Given the description of an element on the screen output the (x, y) to click on. 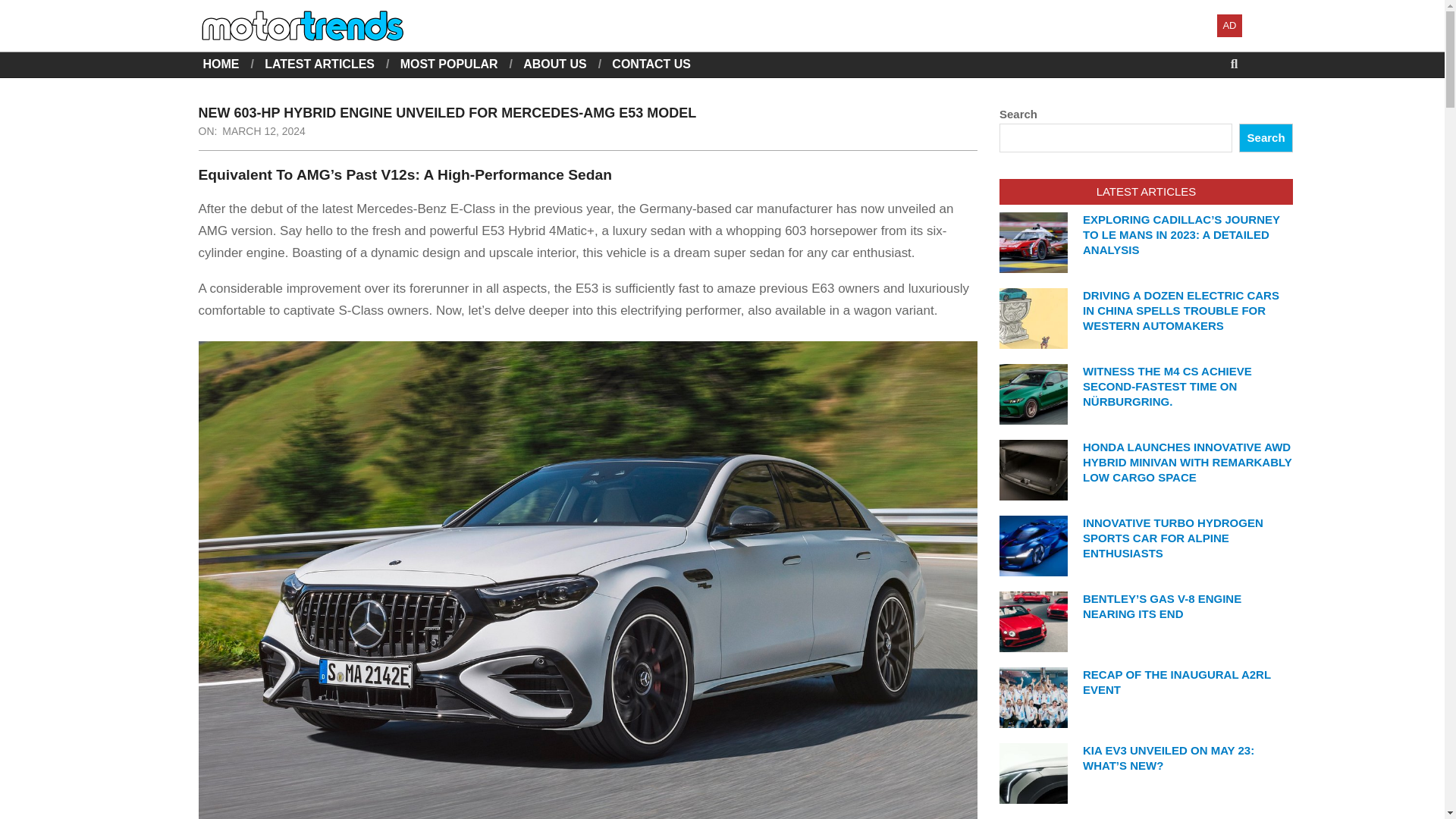
ABOUT US (554, 63)
MOST POPULAR (448, 63)
Tuesday, March 12, 2024, 8:42 am (263, 131)
HOME (221, 63)
LATEST ARTICLES (319, 63)
CONTACT US (650, 63)
Search (24, 9)
Search (1265, 137)
